Given the description of an element on the screen output the (x, y) to click on. 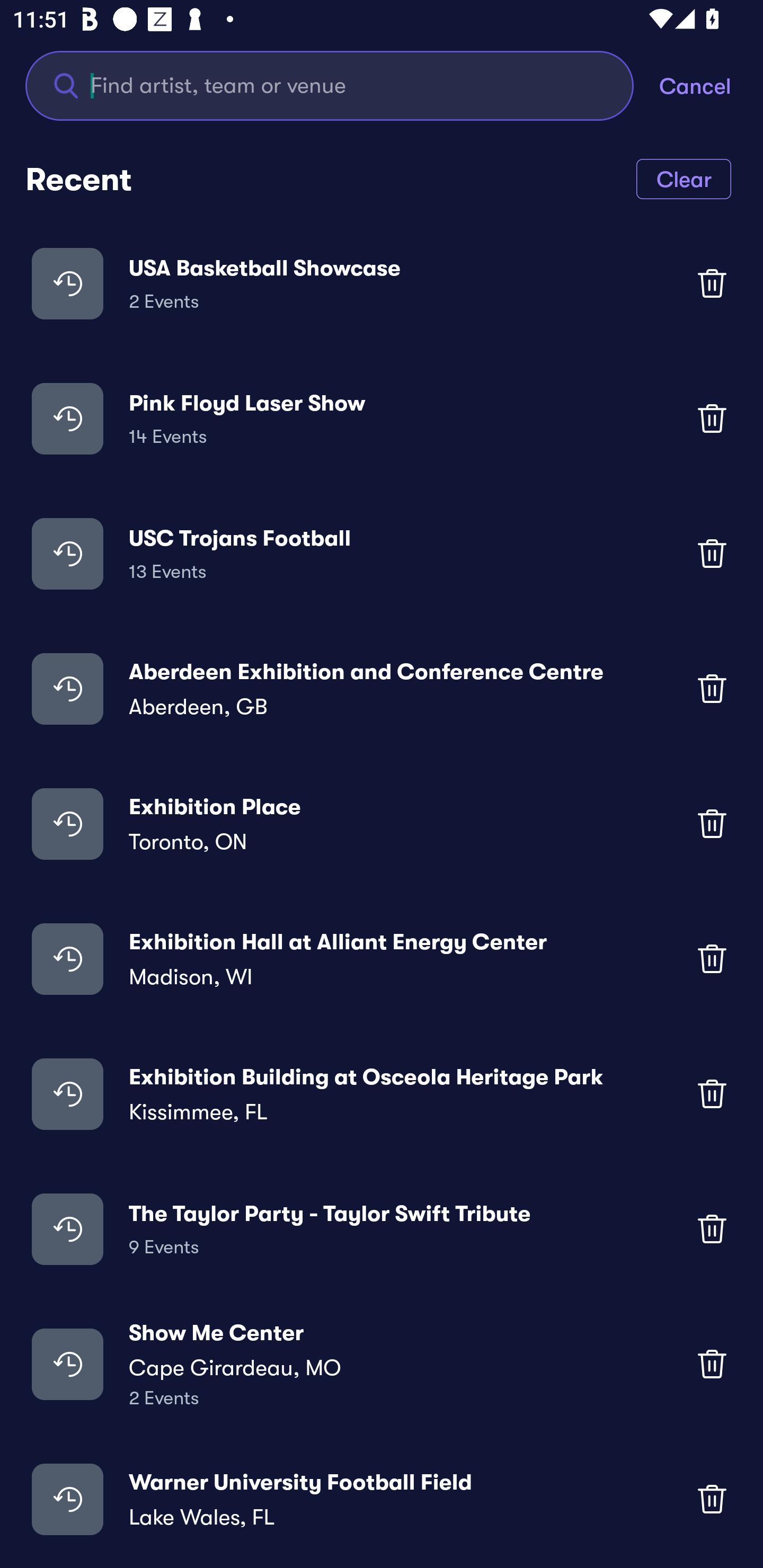
Cancel (711, 85)
Find artist, team or venue Find (329, 85)
Find artist, team or venue Find (341, 85)
Clear (683, 178)
USA Basketball Showcase 2 Events (381, 282)
Pink Floyd Laser Show 14 Events (381, 417)
USC Trojans Football 13 Events (381, 553)
Exhibition Place Toronto, ON (381, 823)
The Taylor Party - Taylor Swift Tribute 9 Events (381, 1228)
Show Me Center Cape Girardeau, MO 2 Events (381, 1364)
Warner University Football Field Lake Wales, FL (381, 1498)
